Given the description of an element on the screen output the (x, y) to click on. 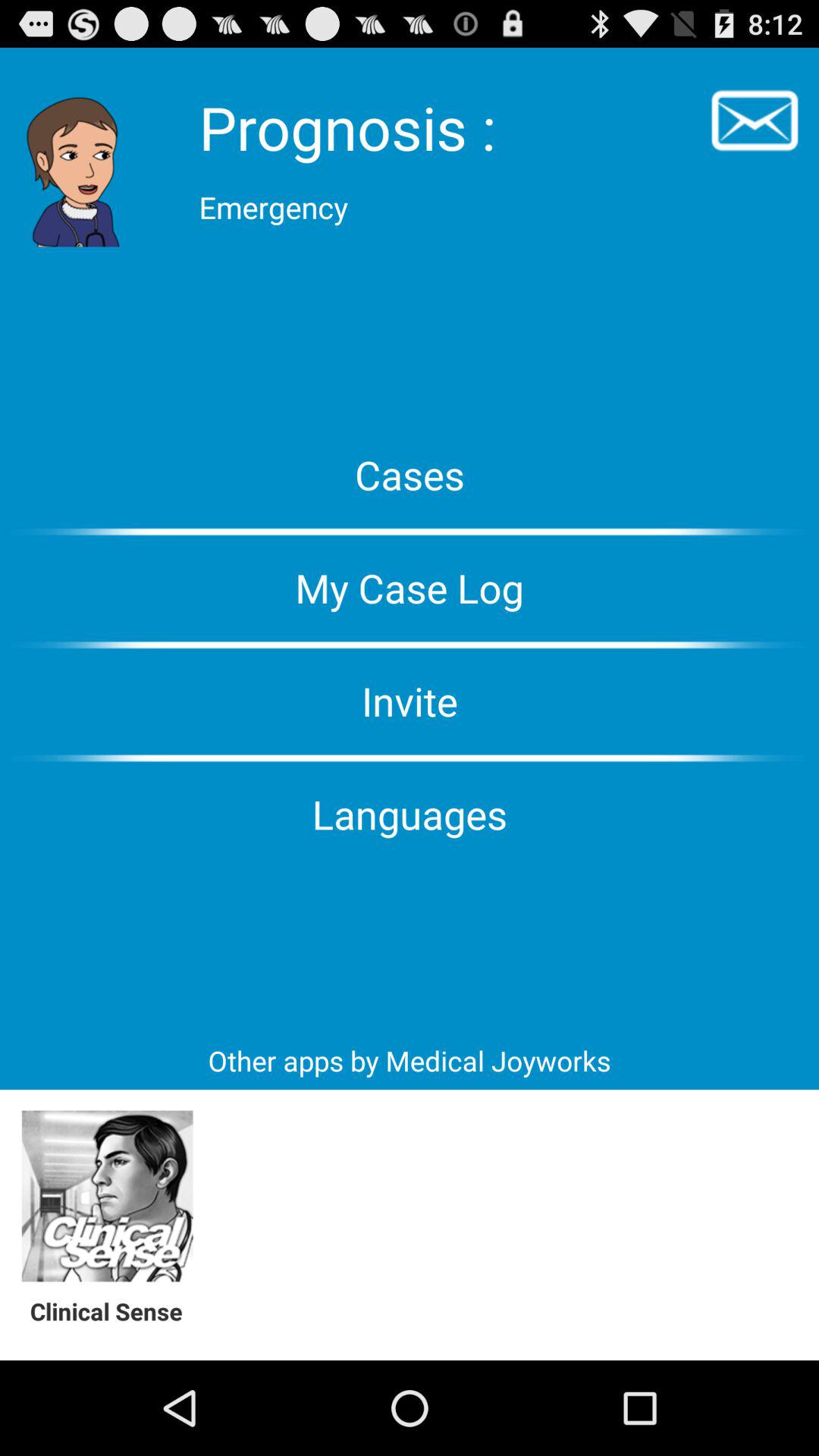
view new app information (107, 1196)
